Given the description of an element on the screen output the (x, y) to click on. 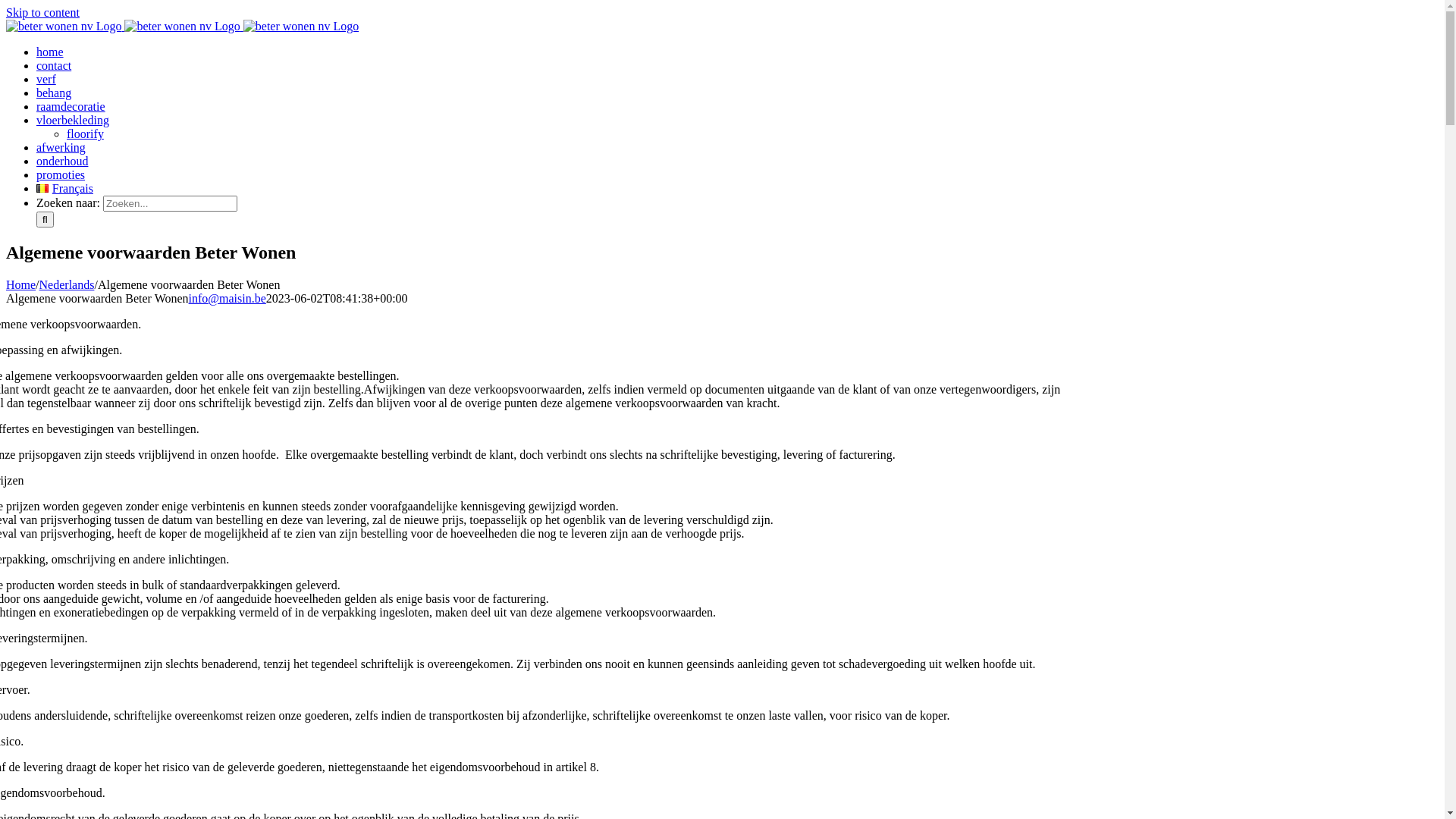
vloerbekleding Element type: text (72, 119)
Home Element type: text (20, 284)
behang Element type: text (53, 92)
home Element type: text (49, 51)
promoties Element type: text (60, 174)
info@maisin.be Element type: text (227, 297)
Nederlands Element type: text (66, 284)
Skip to content Element type: text (42, 12)
floorify Element type: text (84, 133)
raamdecoratie Element type: text (70, 106)
onderhoud Element type: text (61, 160)
afwerking Element type: text (60, 147)
verf Element type: text (46, 78)
contact Element type: text (53, 65)
